Given the description of an element on the screen output the (x, y) to click on. 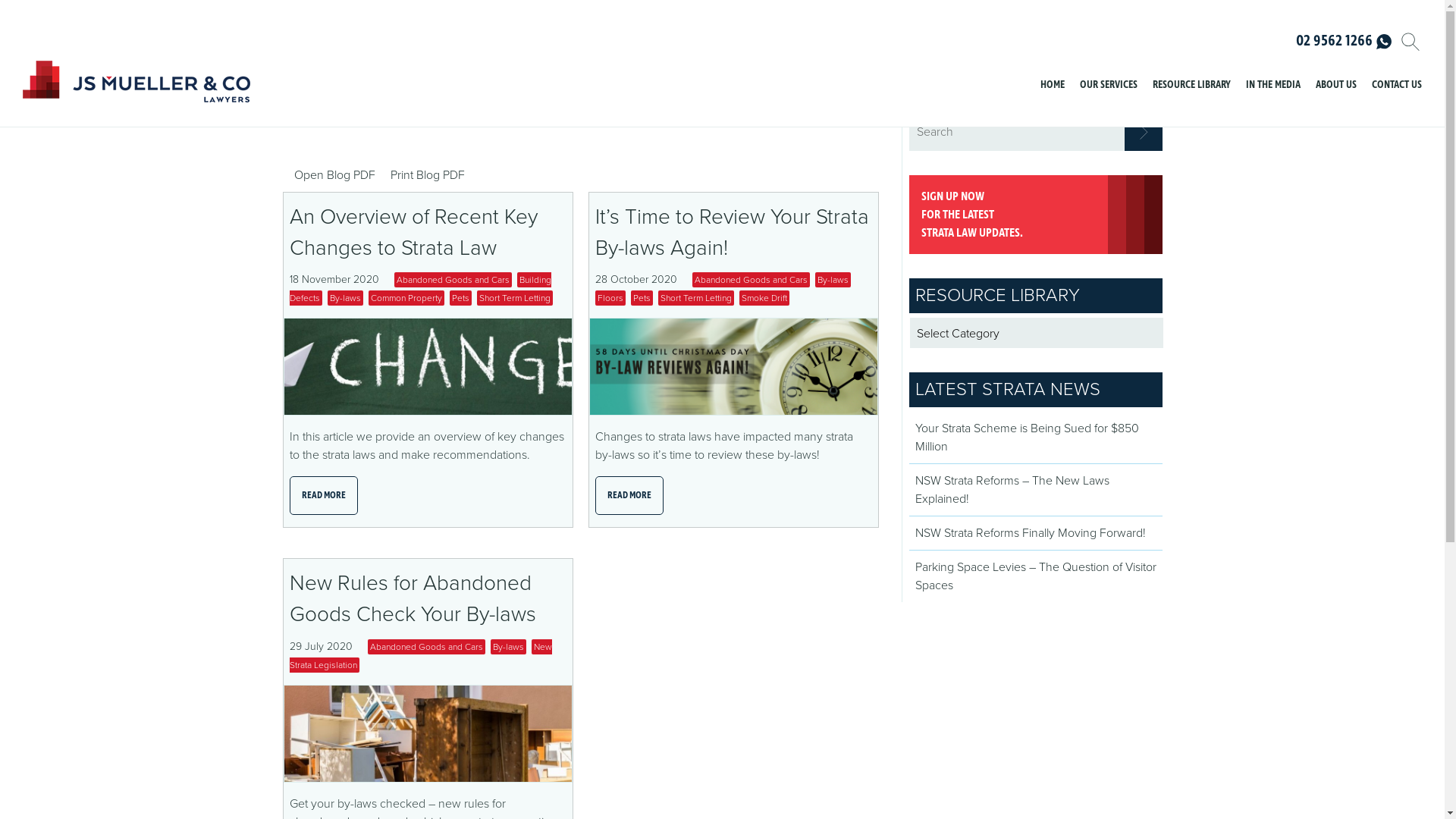
Permalink to An Overview of Recent Key Changes to Strata Law Element type: hover (427, 326)
OUR SERVICES Element type: text (1108, 86)
Abandoned Goods and Cars Element type: text (425, 646)
An Overview of Recent Key Changes to Strata Law Element type: text (413, 231)
By-laws Element type: text (345, 297)
Building Defects Element type: text (420, 288)
Your Strata Scheme is Being Sued for $850 Million Element type: text (1026, 437)
Abandoned Goods and Cars Element type: text (452, 279)
Skip to content Element type: text (1063, 69)
Short Term Letting Element type: text (696, 297)
29 July 2020 Element type: text (328, 645)
IN THE MEDIA Element type: text (1272, 86)
02 9562 1266 Element type: text (1343, 41)
NSW Strata Reforms Finally Moving Forward! Element type: text (1029, 532)
18 November 2020 Element type: text (341, 278)
ABOUT US Element type: text (1335, 86)
By-laws Element type: text (832, 279)
Floors Element type: text (609, 297)
READ MORE Element type: text (323, 495)
Open Blog PDF Element type: text (334, 175)
Pets Element type: text (641, 297)
CONTACT US Element type: text (1396, 86)
Abandoned Goods and Cars Element type: text (750, 279)
New Rules for Abandoned Goods Check Your By-laws Element type: text (412, 598)
HOME Element type: text (1052, 86)
New Strata Legislation Element type: text (420, 655)
SIGN UP NOW
FOR THE LATEST
STRATA LAW UPDATES. Element type: text (1034, 214)
Smoke Drift Element type: text (763, 297)
Common Property Element type: text (406, 297)
Pets Element type: text (459, 297)
RESOURCE LIBRARY Element type: text (1191, 86)
Search Element type: text (1142, 131)
28 October 2020 Element type: text (642, 278)
Print Blog PDF Element type: text (426, 175)
READ MORE Element type: text (628, 495)
By-laws Element type: text (507, 646)
Short Term Letting Element type: text (514, 297)
